Given the description of an element on the screen output the (x, y) to click on. 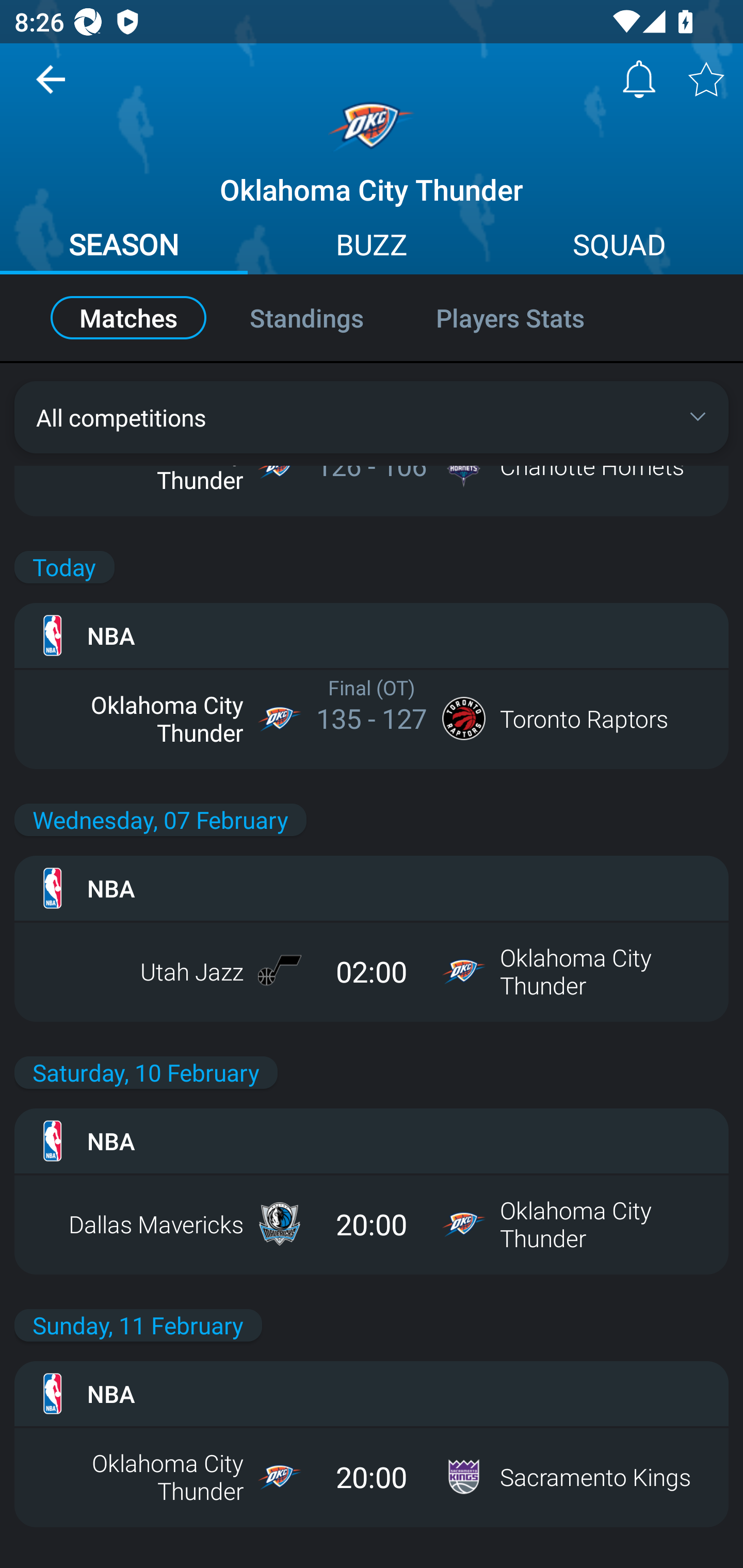
Navigate up (50, 86)
SEASON (123, 246)
BUZZ (371, 246)
SQUAD (619, 246)
Standings (306, 317)
Players Stats (531, 317)
All competitions (371, 417)
NBA (371, 635)
NBA (371, 888)
Utah Jazz 02:00 Oklahoma City Thunder (371, 971)
NBA (371, 1140)
Dallas Mavericks 20:00 Oklahoma City Thunder (371, 1223)
NBA (371, 1393)
Oklahoma City Thunder 20:00 Sacramento Kings (371, 1476)
